Given the description of an element on the screen output the (x, y) to click on. 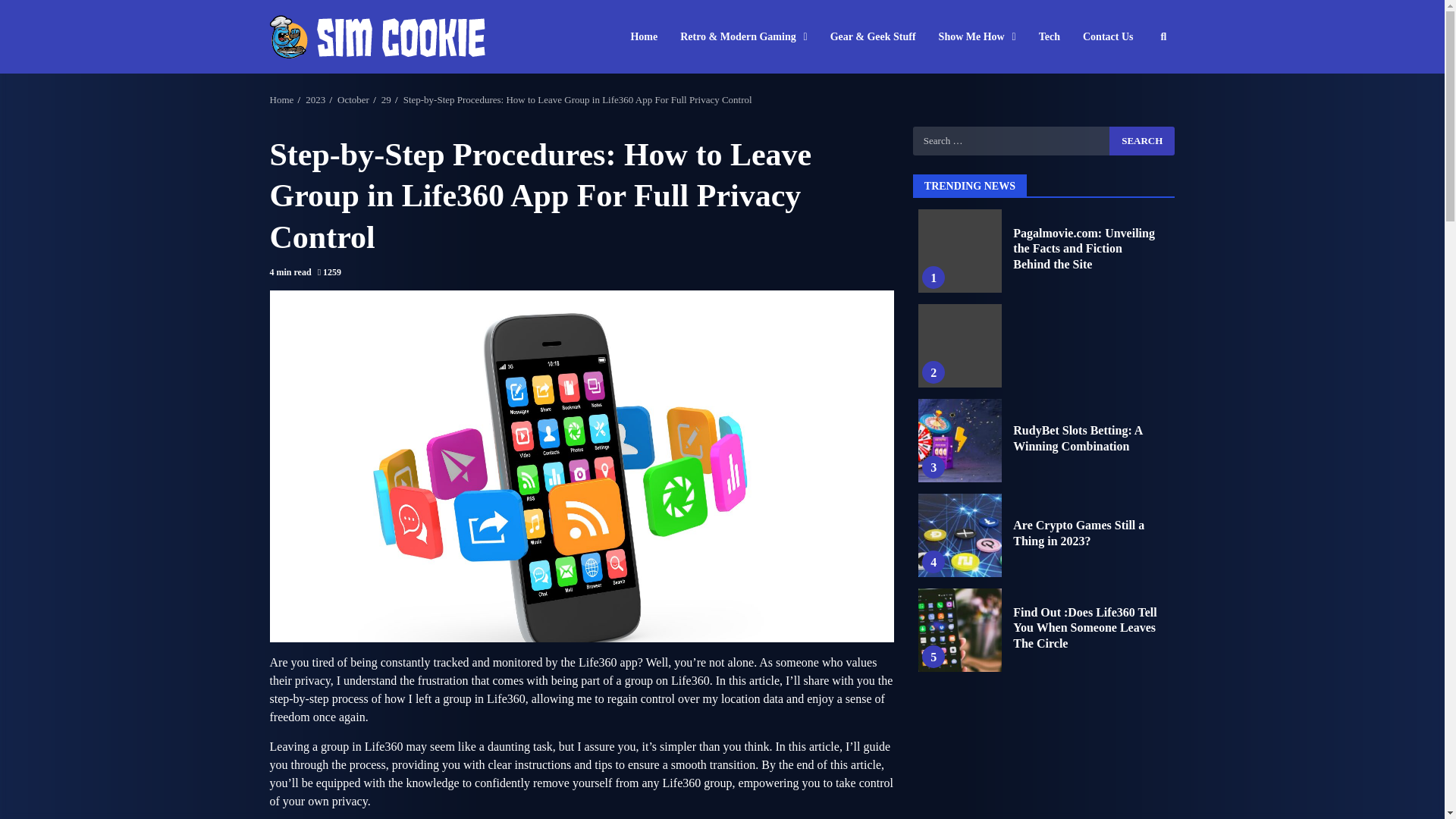
Home (649, 36)
Home (281, 99)
Search (1141, 140)
2023 (314, 99)
Contact Us (1102, 36)
Show Me How (977, 36)
1259 (328, 272)
October (353, 99)
Search (1141, 140)
